Given the description of an element on the screen output the (x, y) to click on. 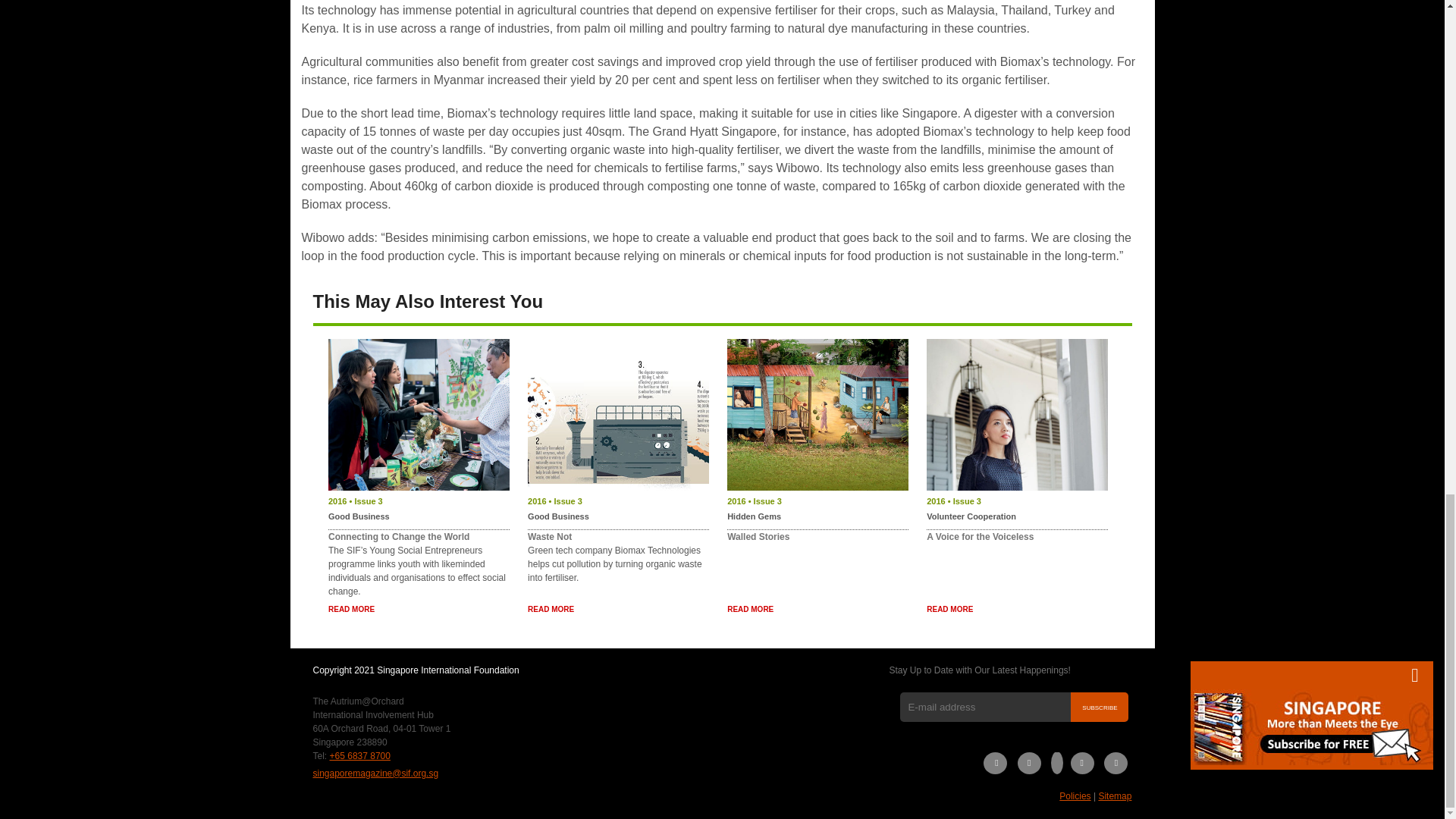
Policies (1074, 796)
SUBSCRIBE (1099, 706)
Policies (1074, 796)
Sitemap (1114, 796)
Sitemap (1114, 796)
